Given the description of an element on the screen output the (x, y) to click on. 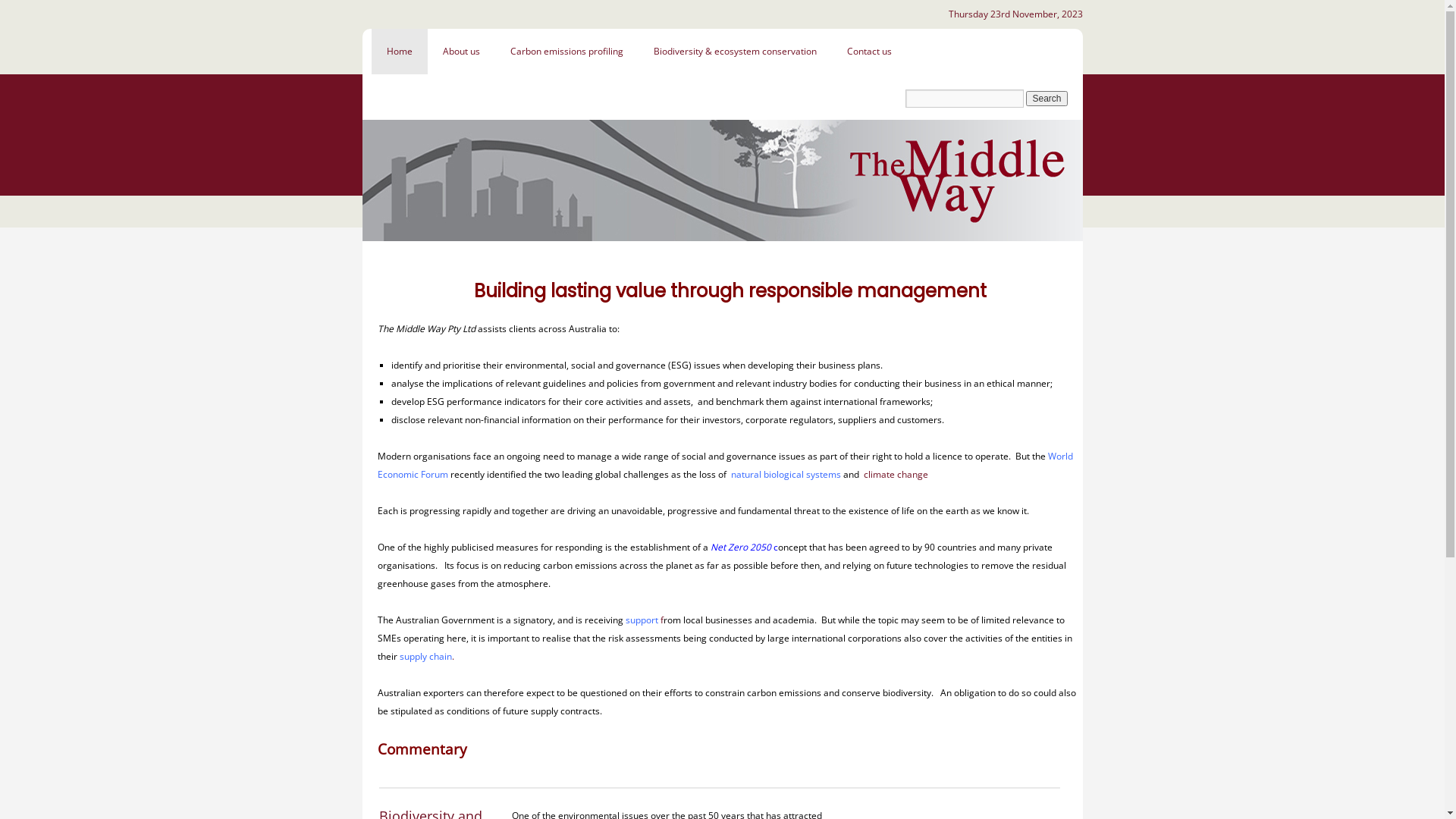
Search Element type: text (1046, 98)
Net Zero 2050 Element type: text (740, 546)
climate change  Element type: text (895, 473)
World Economic Forum Element type: text (725, 464)
About us Element type: text (461, 51)
Contact us Element type: text (868, 51)
Carbon emissions profiling Element type: text (565, 51)
Biodiversity & ecosystem conservation Element type: text (734, 51)
Home Element type: text (399, 51)
natural biological systems Element type: text (785, 473)
supply chain. Element type: text (425, 655)
support f Element type: text (643, 619)
